Given the description of an element on the screen output the (x, y) to click on. 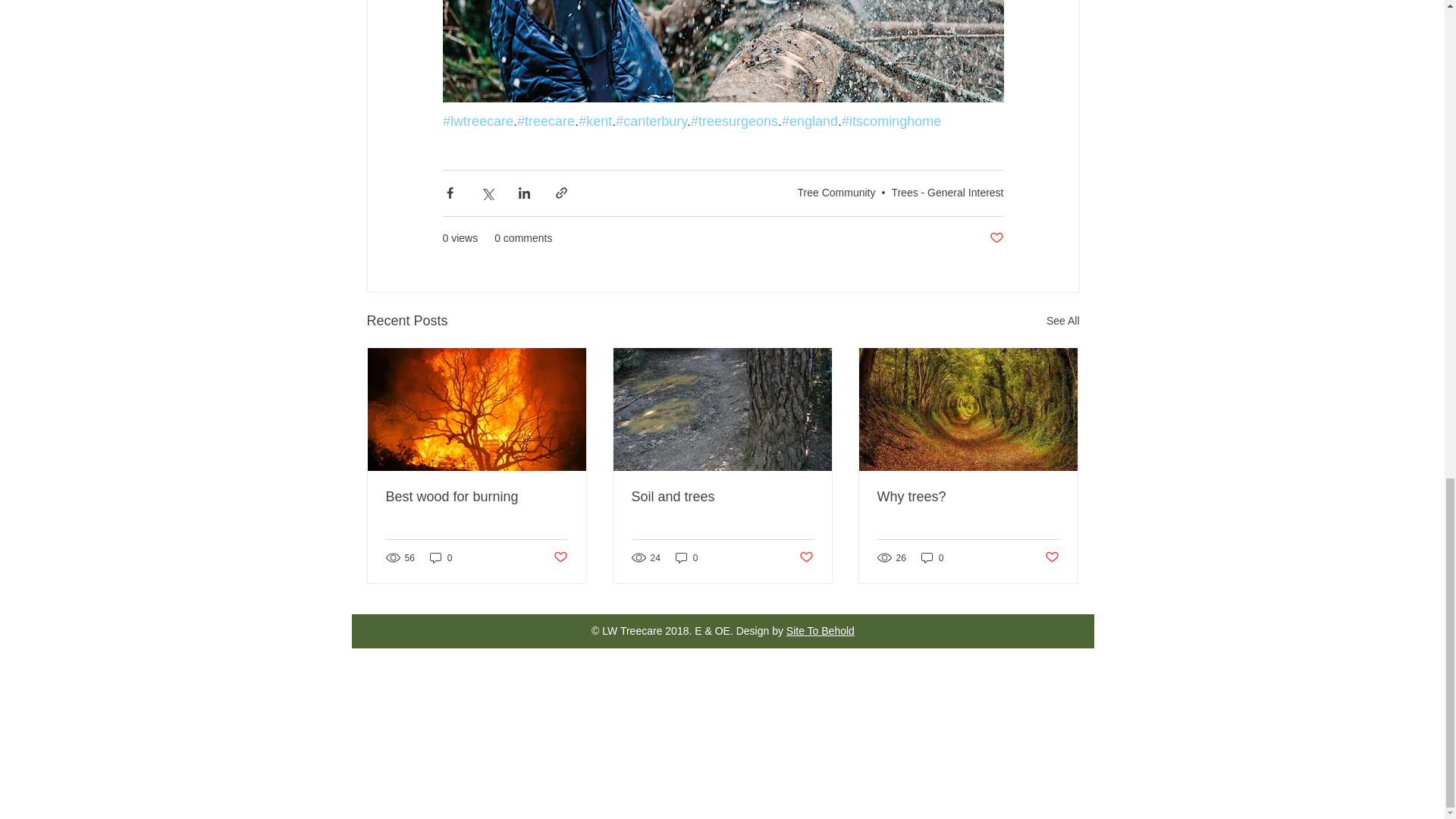
0 (687, 557)
Post not marked as liked (806, 557)
0 (441, 557)
0 (932, 557)
Soil and trees (721, 496)
Tree Community (836, 192)
Why trees? (967, 496)
Best wood for burning (476, 496)
See All (1063, 321)
Post not marked as liked (995, 238)
